Given the description of an element on the screen output the (x, y) to click on. 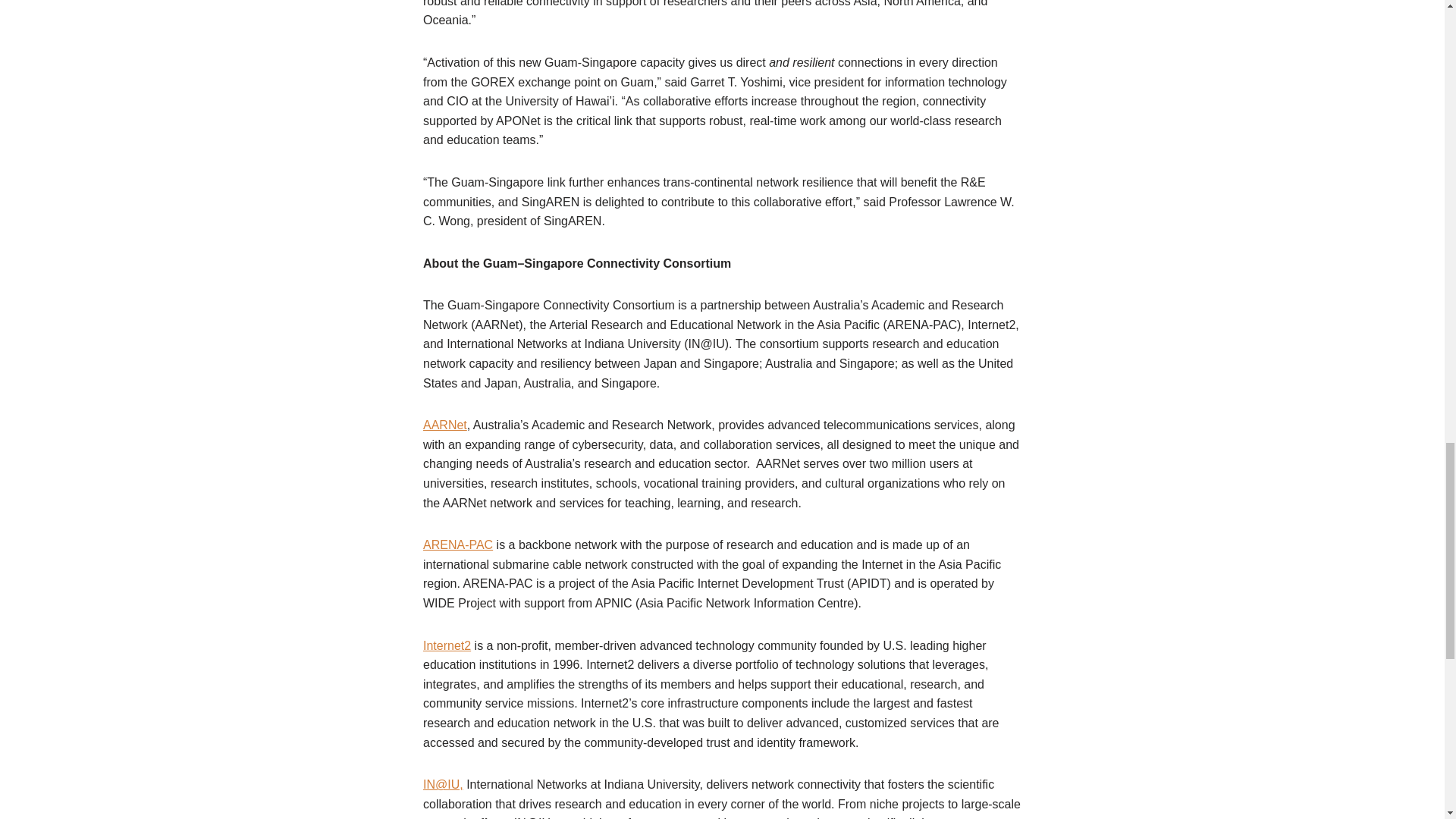
ARENA-PAC (458, 544)
AARNet (445, 424)
Internet2 (446, 645)
